Given the description of an element on the screen output the (x, y) to click on. 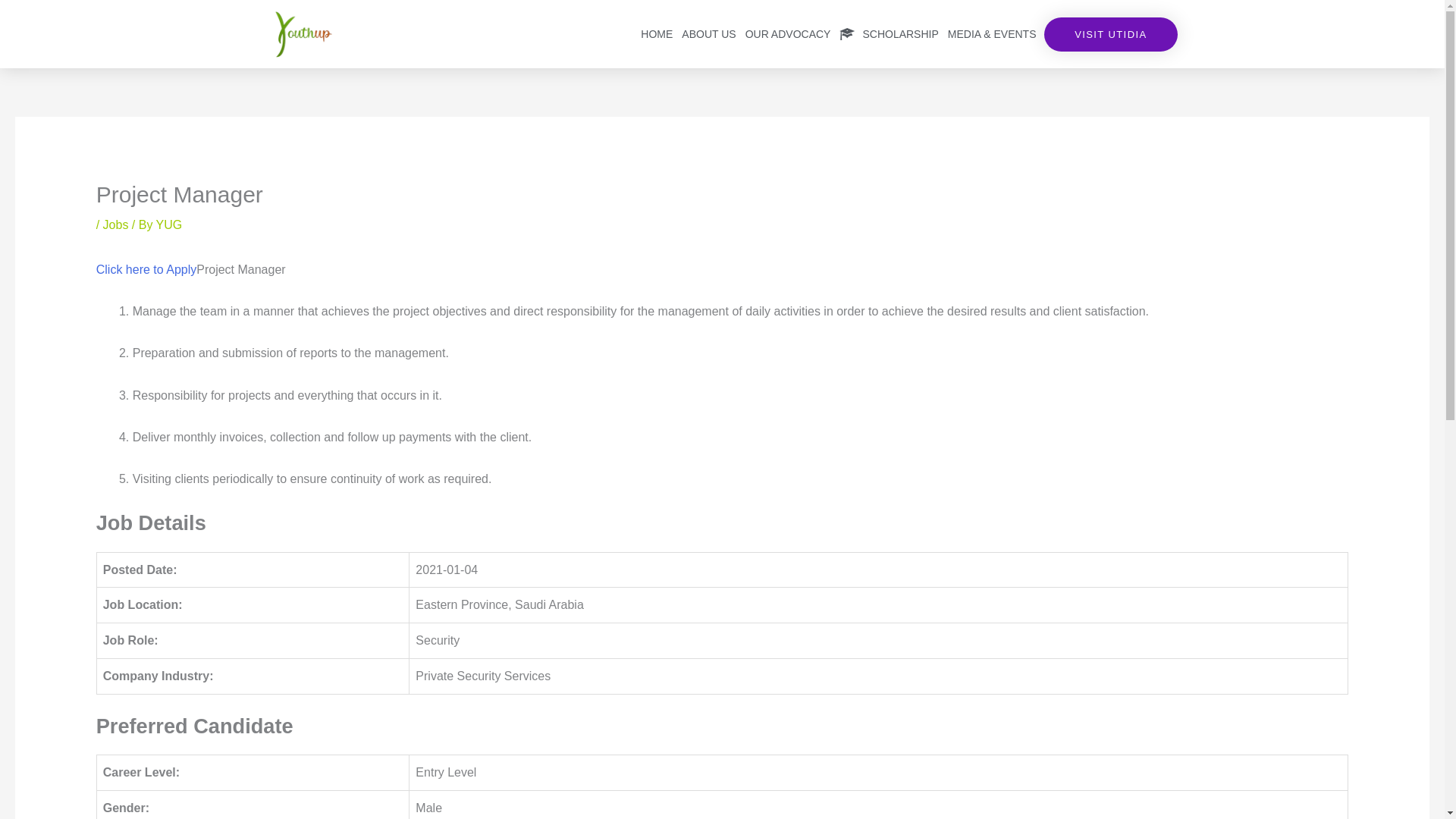
View all posts by YUG (169, 224)
VISIT UTIDIA (1109, 33)
OUR ADVOCACY (788, 33)
SCHOLARSHIP (888, 33)
YUG (169, 224)
Jobs (116, 224)
Click here to Apply (146, 269)
HOME (656, 33)
ABOUT US (708, 33)
